Given the description of an element on the screen output the (x, y) to click on. 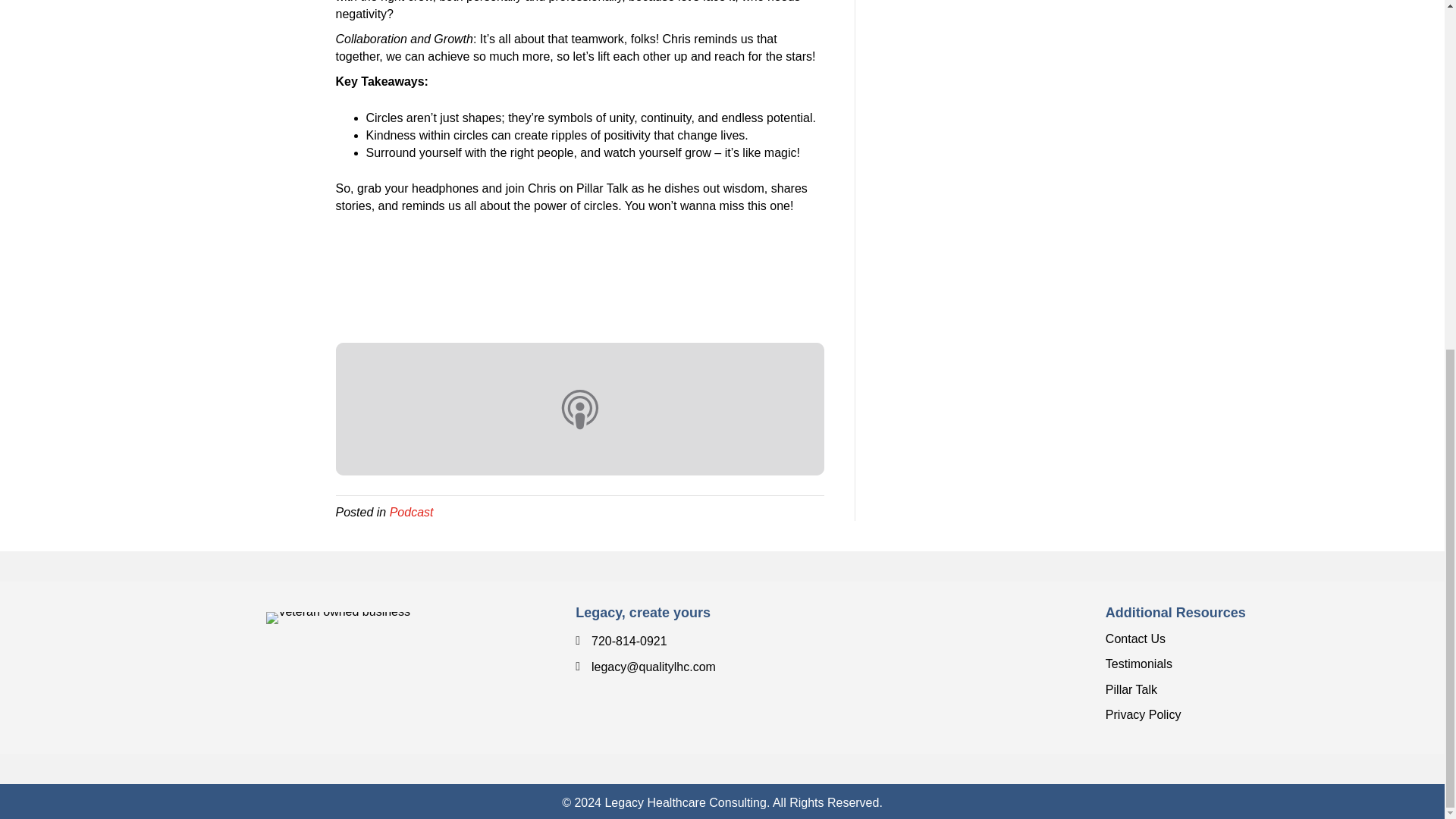
Podcast (411, 512)
720-814-0921 (628, 640)
Contact Us (1135, 638)
Testimonials (1138, 663)
Pillar Talk (1131, 689)
Veteran owned business (338, 617)
Privacy Policy (1142, 714)
